Given the description of an element on the screen output the (x, y) to click on. 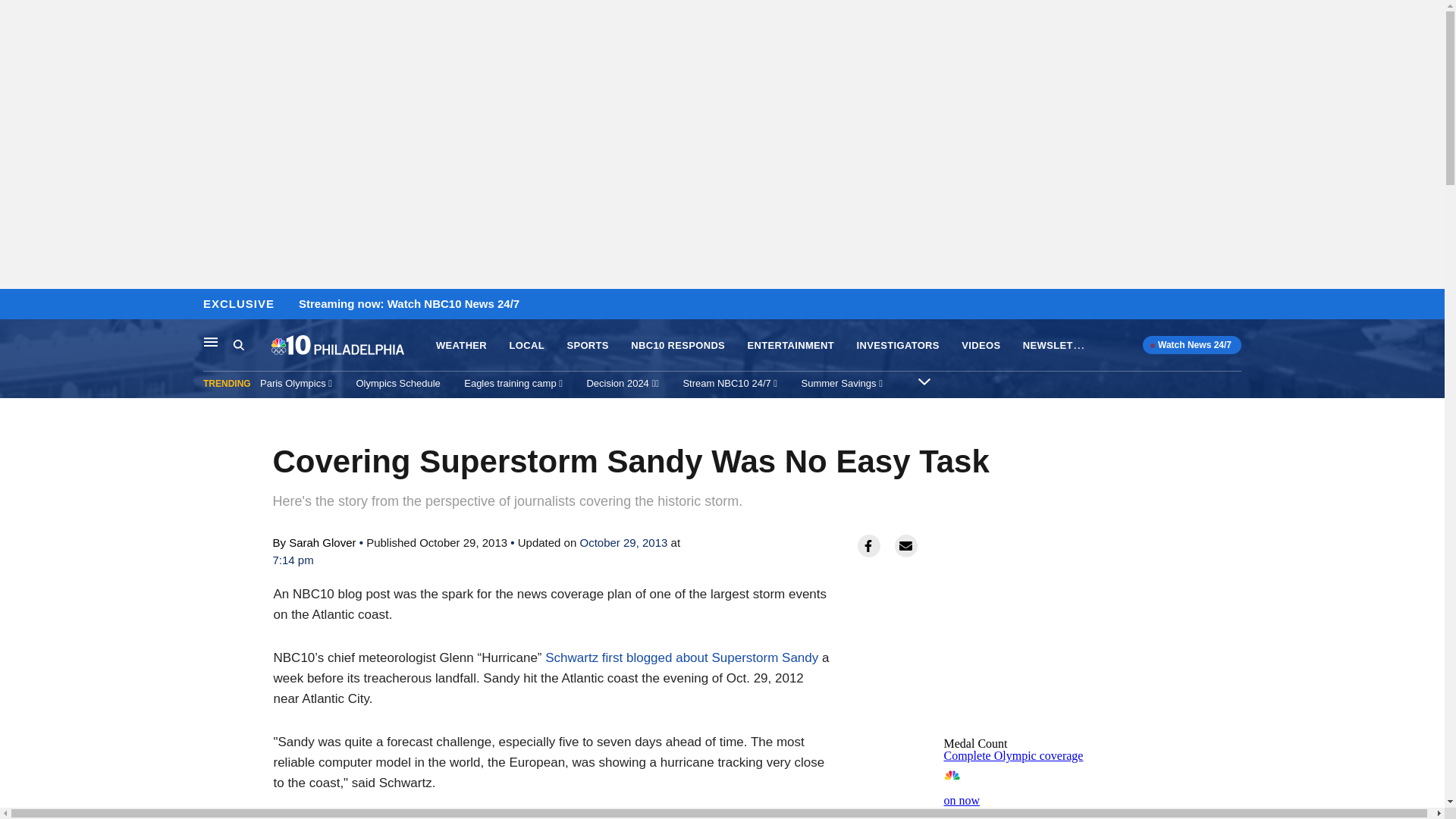
Olympics Schedule (398, 383)
SPORTS (587, 345)
Complete Olympic coverage (1013, 755)
LOCAL (1056, 790)
NBC10 RESPONDS (526, 345)
INVESTIGATORS (677, 345)
VIDEOS (898, 345)
WEATHER (980, 345)
Skip to content (460, 345)
Search (16, 304)
Expand (252, 345)
Main Navigation (924, 381)
Schwartz first blogged about Superstorm Sandy (210, 341)
Search (681, 657)
